Given the description of an element on the screen output the (x, y) to click on. 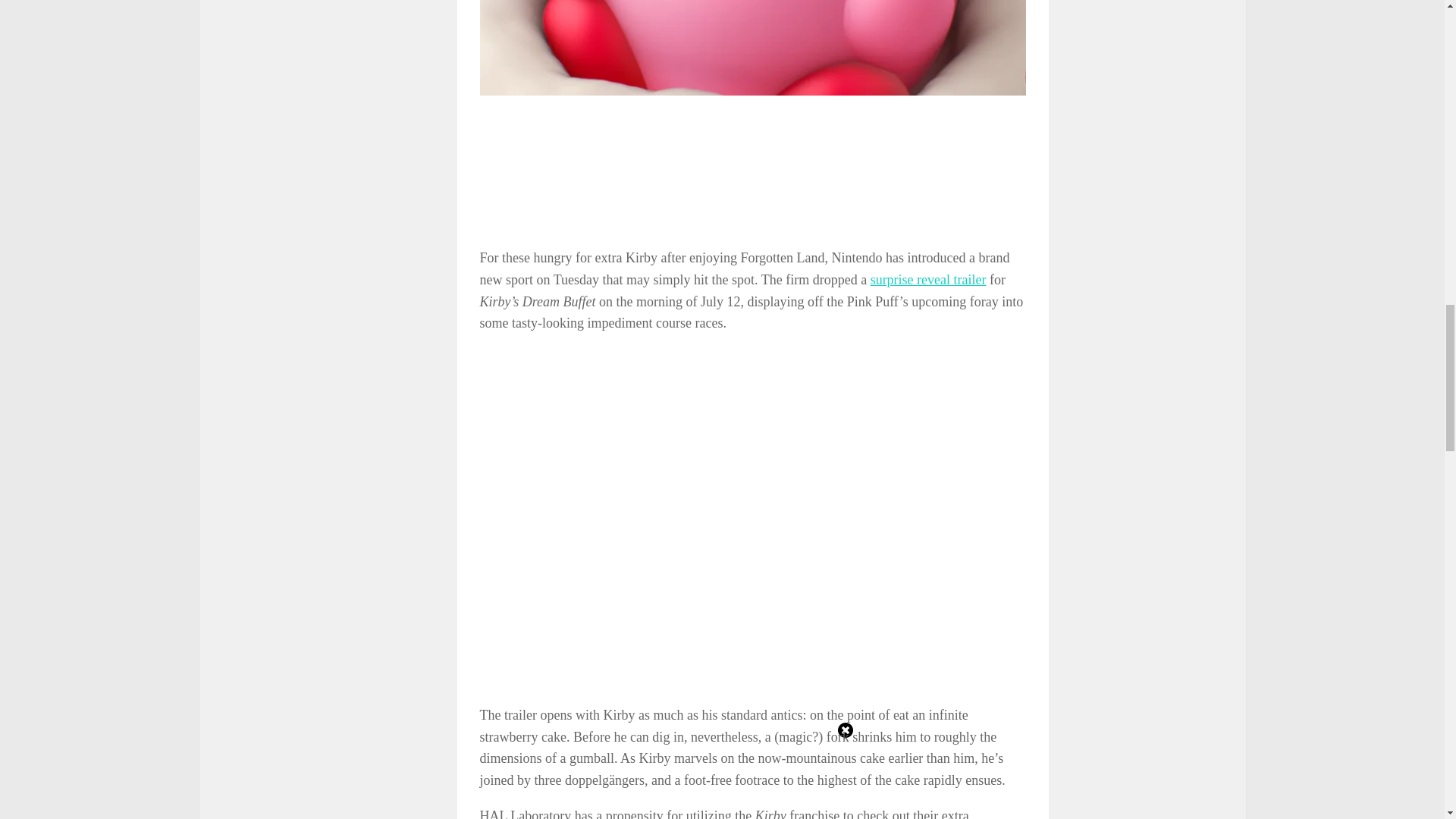
surprise reveal trailer (928, 279)
